Given the description of an element on the screen output the (x, y) to click on. 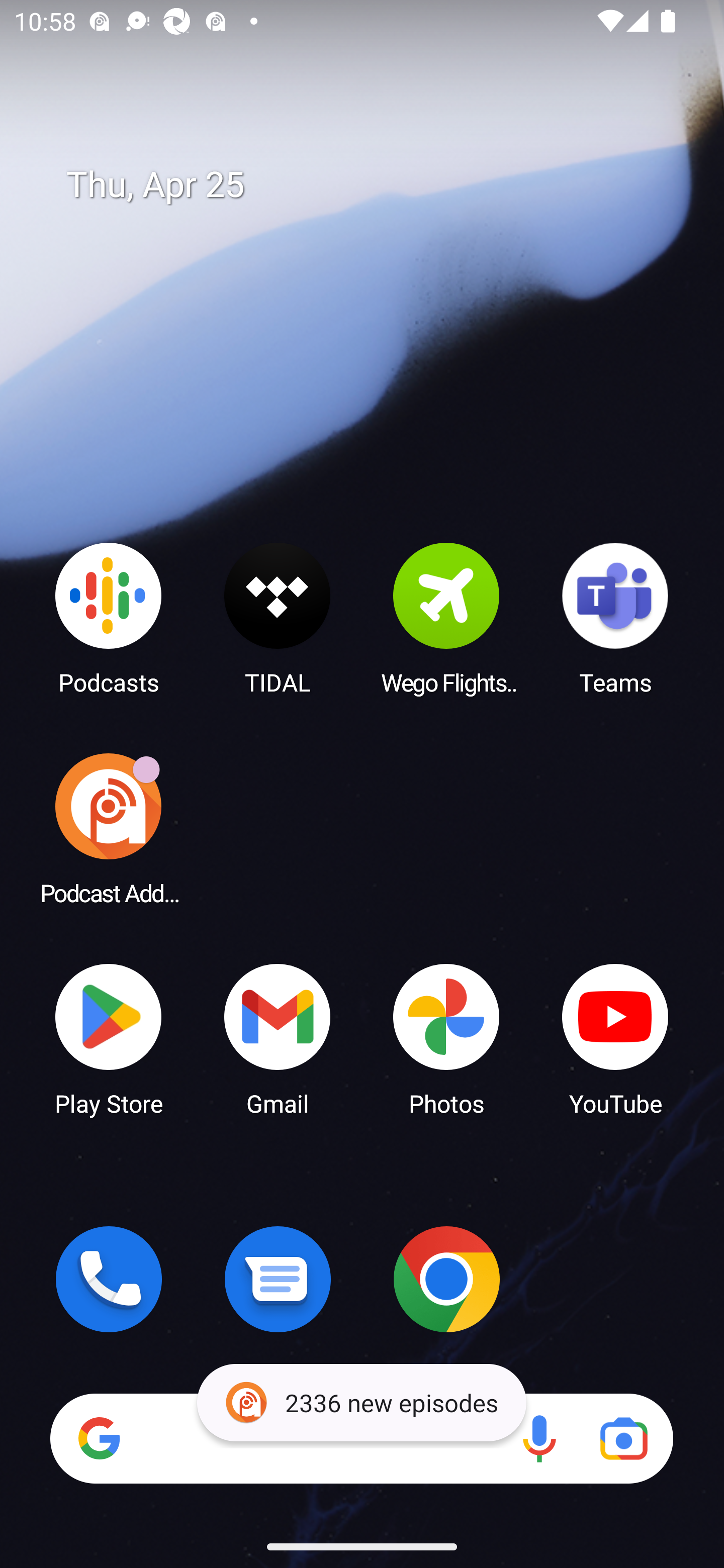
Thu, Apr 25 (375, 184)
Podcasts (108, 617)
TIDAL (277, 617)
Wego Flights & Hotels (445, 617)
Teams (615, 617)
Play Store (108, 1038)
Gmail (277, 1038)
Photos (445, 1038)
YouTube (615, 1038)
Phone (108, 1279)
Messages (277, 1279)
Chrome (446, 1279)
Search Voice search Google Lens (361, 1438)
Voice search (539, 1438)
Google Lens (623, 1438)
